Given the description of an element on the screen output the (x, y) to click on. 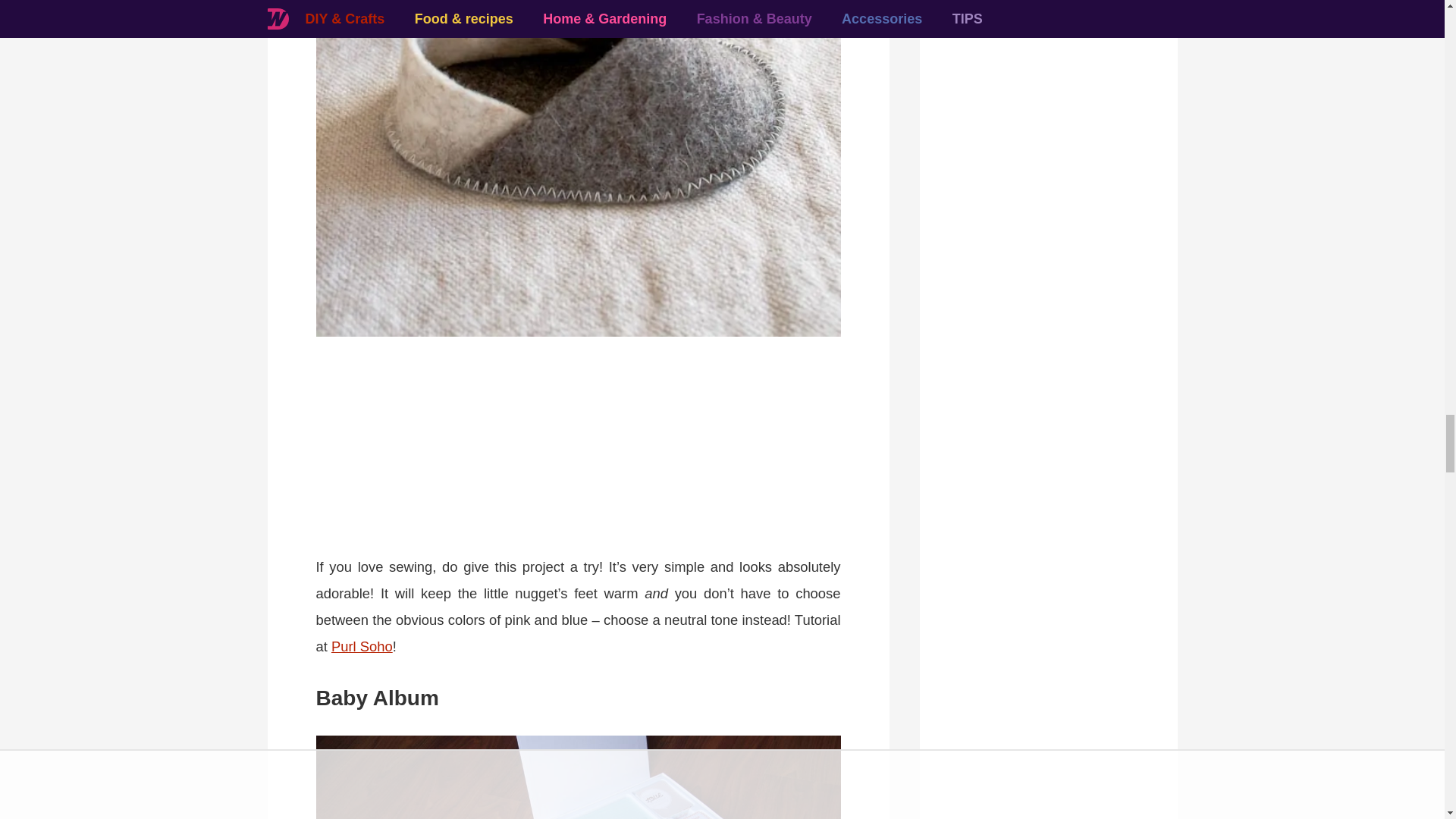
Purl Soho (362, 646)
